Given the description of an element on the screen output the (x, y) to click on. 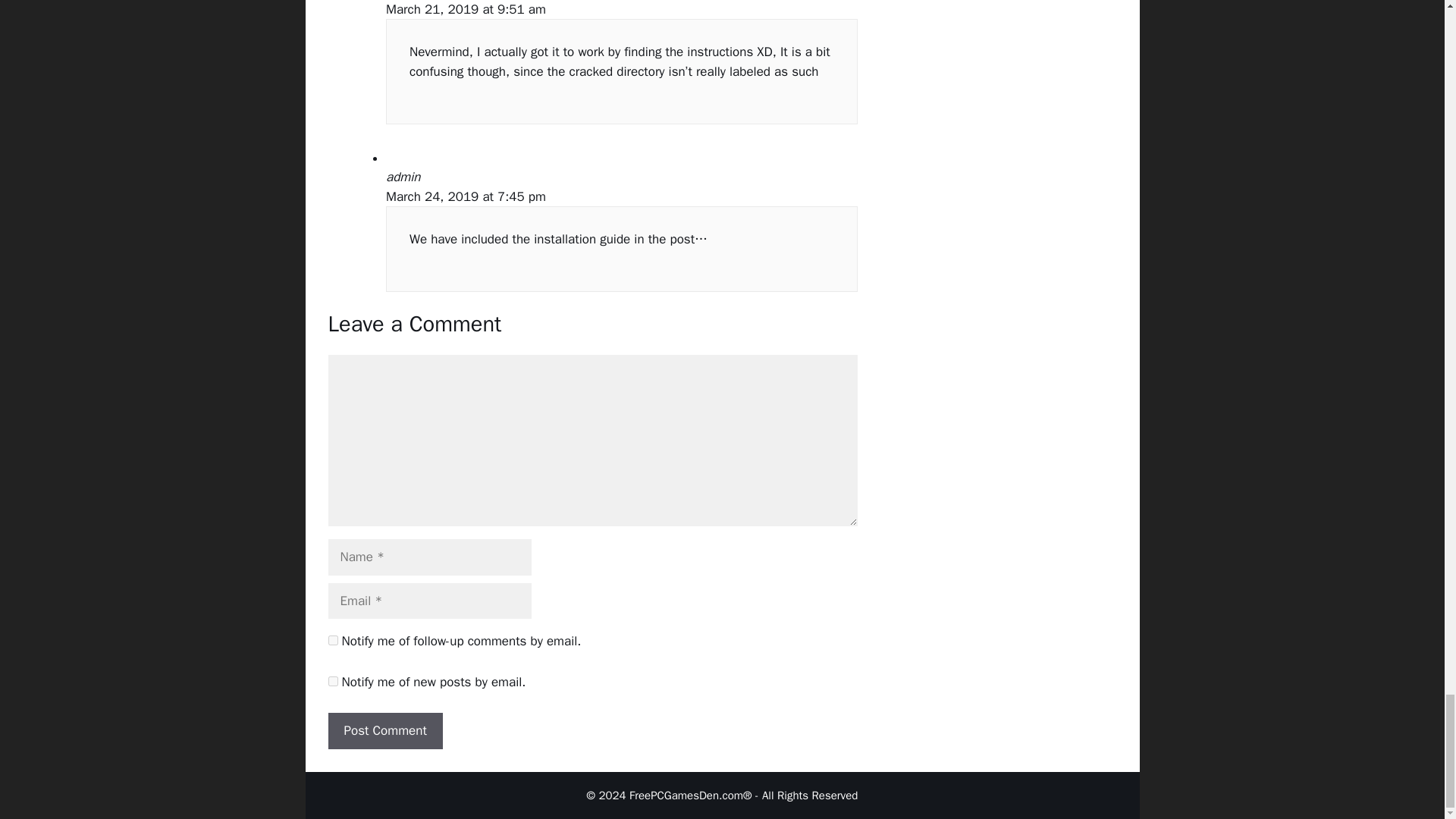
March 21, 2019 at 9:51 am (465, 9)
March 24, 2019 at 7:45 pm (465, 196)
subscribe (332, 681)
Post Comment (384, 730)
Post Comment (384, 730)
subscribe (332, 640)
